Given the description of an element on the screen output the (x, y) to click on. 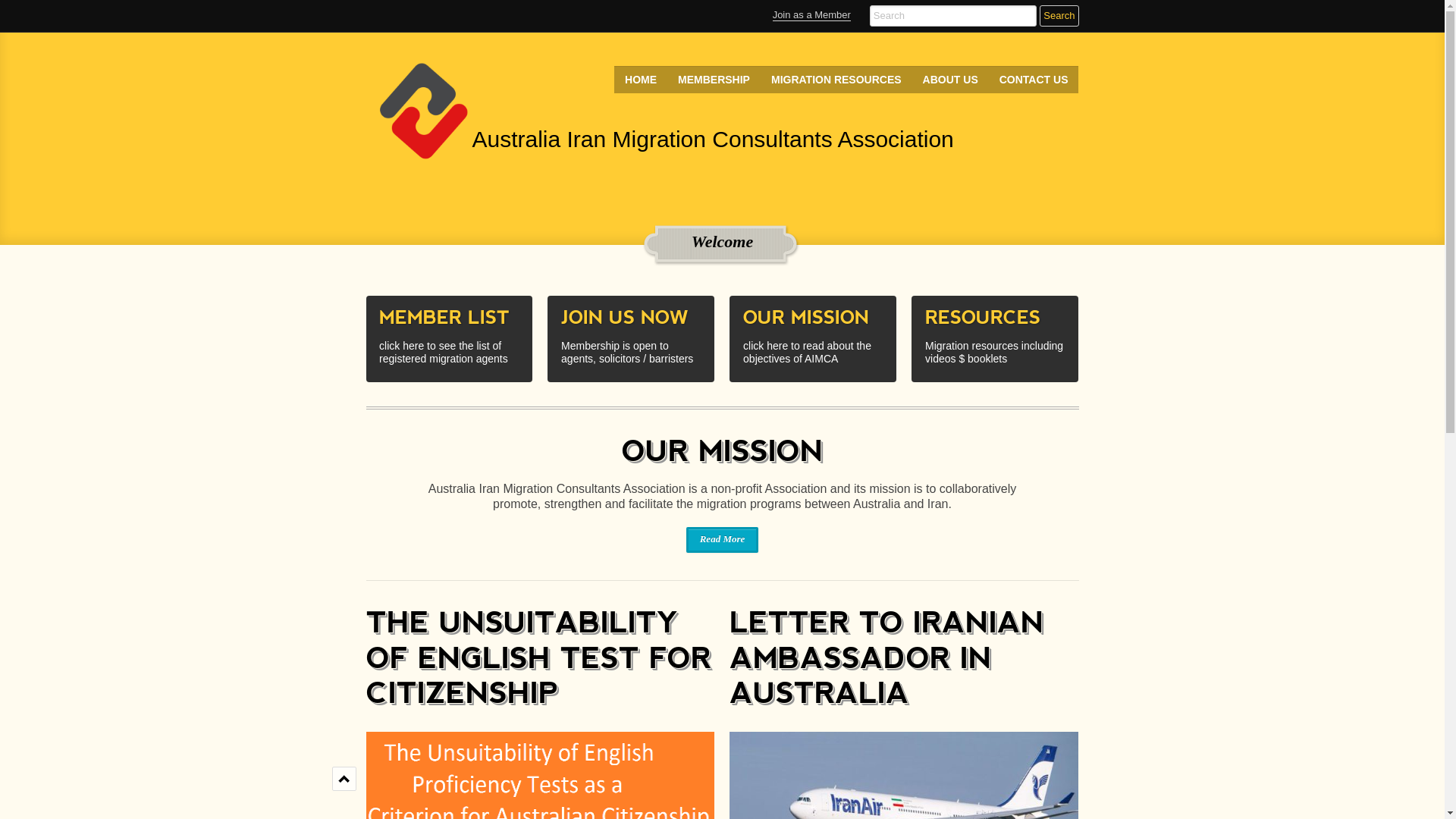
CONTACT US Element type: text (1033, 79)
Search Element type: text (1058, 15)
ABOUT US Element type: text (950, 79)
MIGRATION RESOURCES Element type: text (836, 79)
HOME Element type: text (640, 79)
Join as a Member Element type: text (811, 15)
  Element type: text (344, 771)
Australia Iran Migration Consultants Association Element type: text (471, 112)
MEMBERSHIP Element type: text (713, 79)
Read More Element type: text (722, 539)
LETTER TO IRANIAN AMBASSADOR IN AUSTRALIA Element type: text (886, 656)
THE UNSUITABILITY OF ENGLISH TEST FOR CITIZENSHIP Element type: text (537, 656)
